Given the description of an element on the screen output the (x, y) to click on. 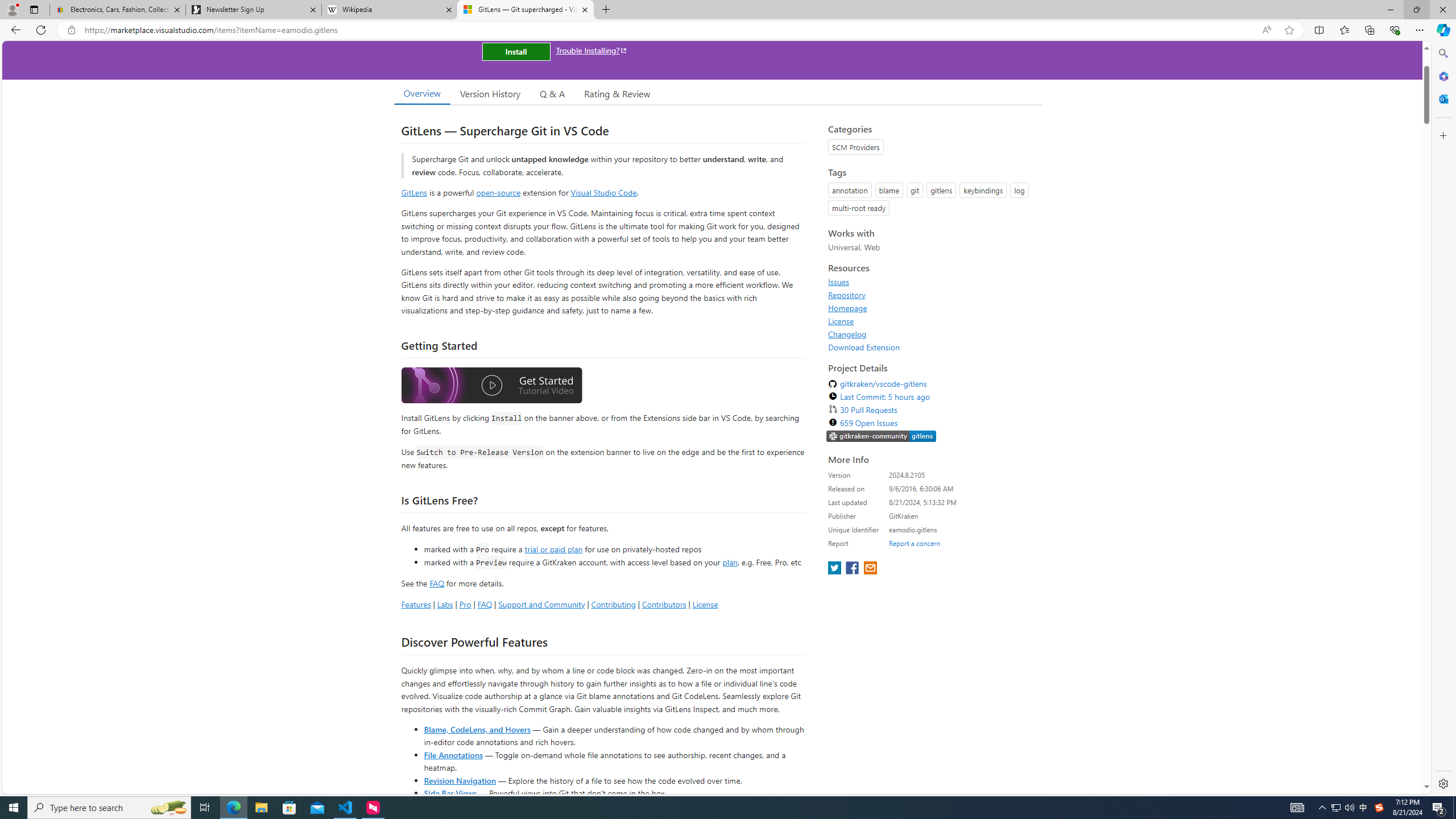
Side Bar Views (449, 792)
Rating & Review (618, 92)
File Annotations (453, 754)
Issues (931, 281)
